Given the description of an element on the screen output the (x, y) to click on. 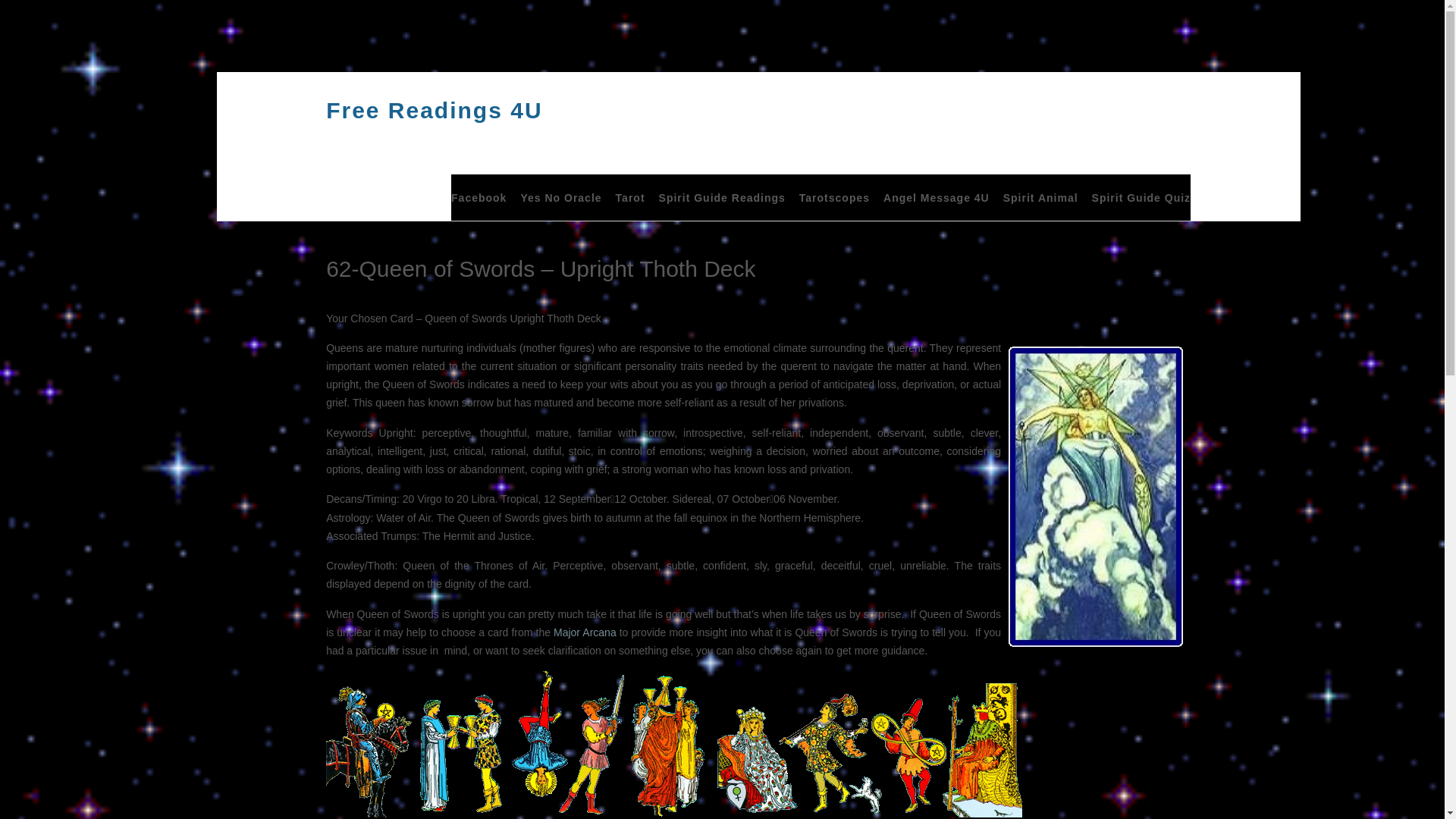
Free Tarot Readings (630, 198)
Free Readings 4U (433, 110)
Free Readings 4U (433, 110)
Facebook (478, 198)
Free Daily Horoscopes (834, 198)
